Given the description of an element on the screen output the (x, y) to click on. 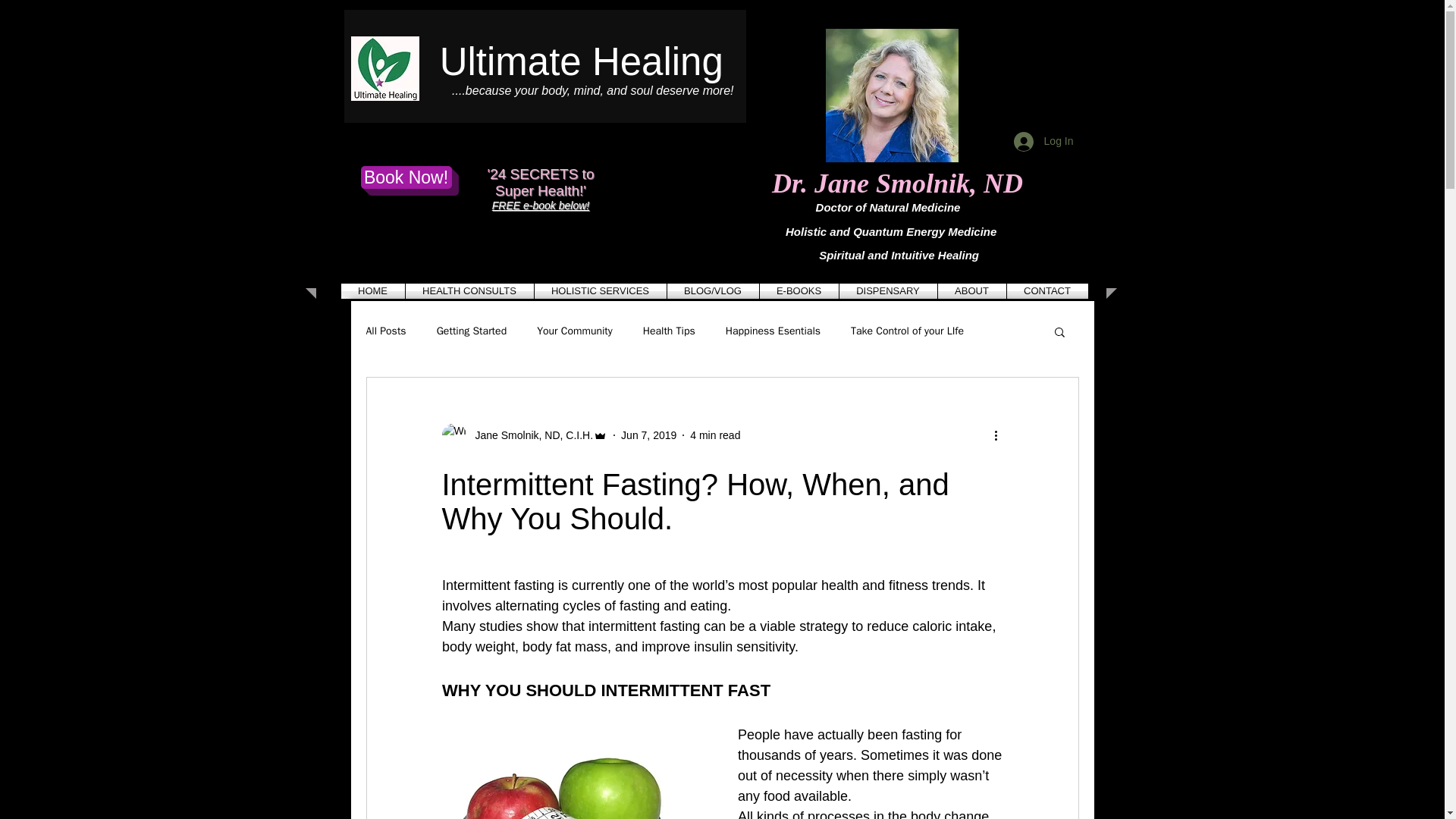
ABOUT (971, 290)
Jane Smolnik, ND, C.I.H. (528, 435)
4 min read (714, 435)
Book Now! (406, 177)
Log In (1043, 141)
Your Community (574, 331)
Getting Started (471, 331)
CONTACT (1047, 290)
UH Logo with Star -white.jpg (384, 68)
HOLISTIC SERVICES (599, 290)
DISPENSARY (887, 290)
Jun 7, 2019 (649, 435)
All Posts (385, 331)
Happiness Esentials (773, 331)
HEALTH CONSULTS (468, 290)
